Given the description of an element on the screen output the (x, y) to click on. 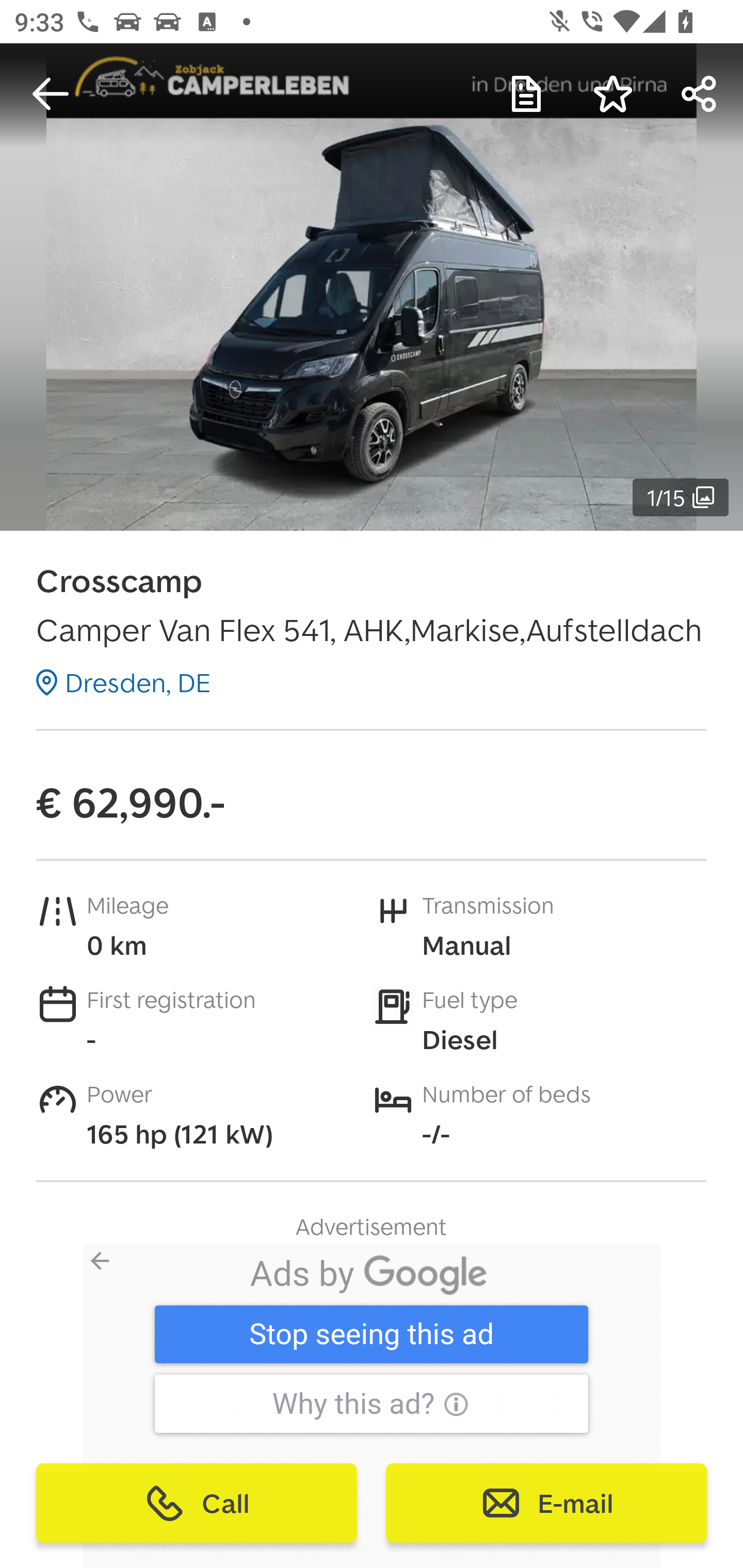
Navigate up (50, 93)
My Notes (525, 93)
Save (612, 93)
Forward (699, 93)
Dresden, DE (123, 681)
用貸款供車更free 免抵押免全 保 用貸款供車更free 免抵押免全 保 (366, 1342)
Call (196, 1502)
E-mail (545, 1502)
